Given the description of an element on the screen output the (x, y) to click on. 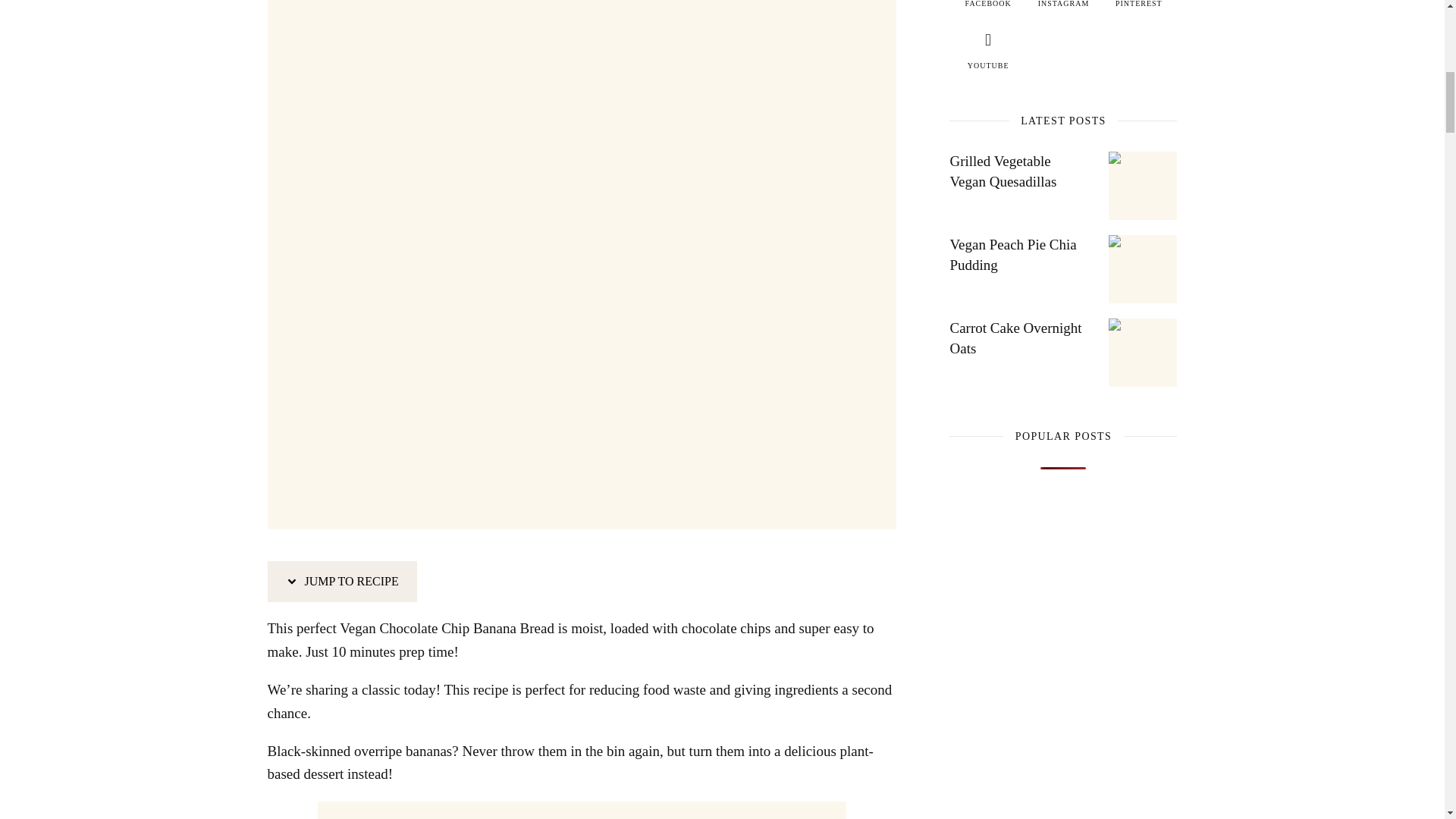
Vegan Chocolate Chip Banana Bread (580, 56)
JUMP TO RECIPE (341, 581)
